Given the description of an element on the screen output the (x, y) to click on. 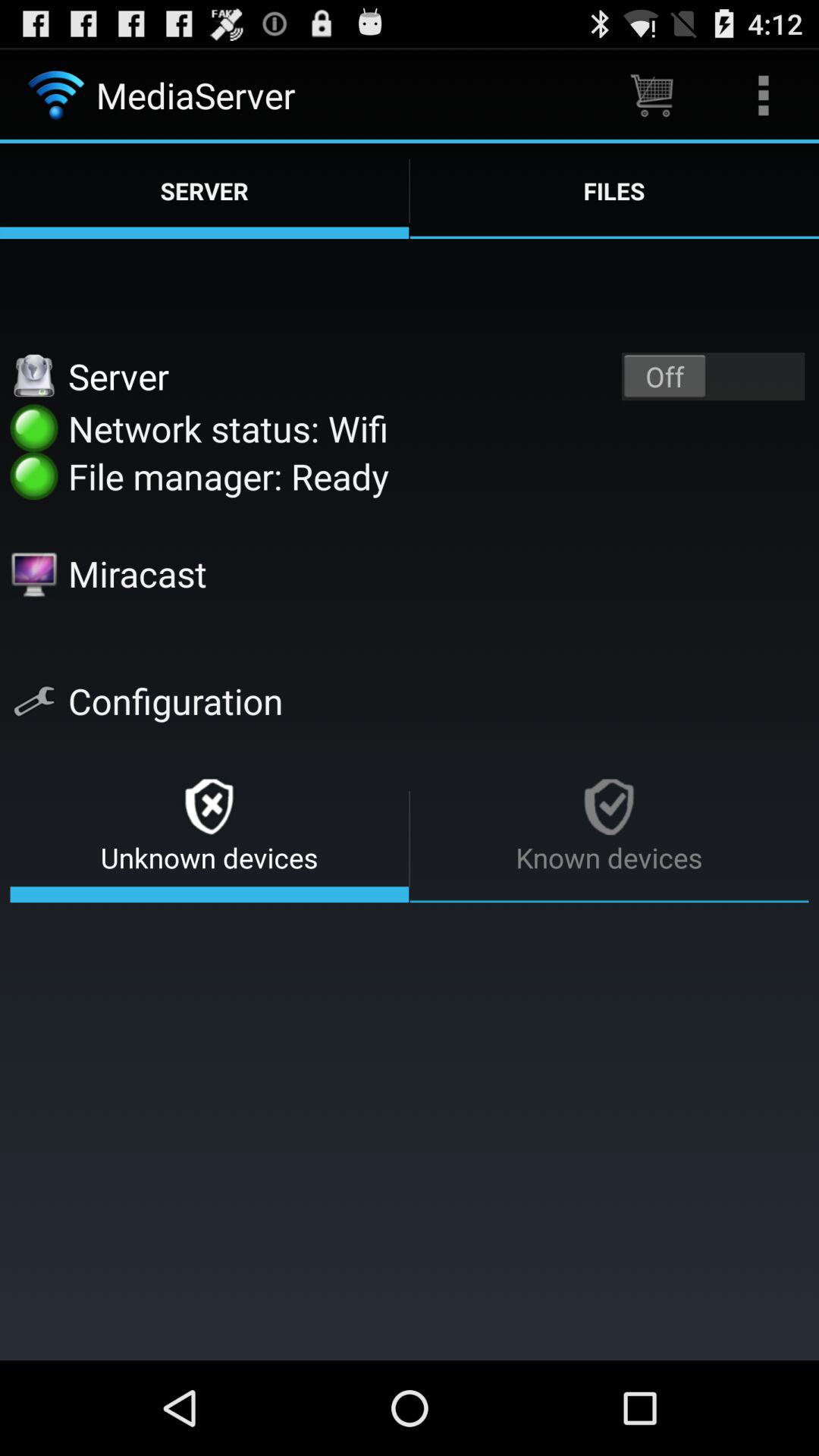
tap the item at the bottom (409, 1125)
